Given the description of an element on the screen output the (x, y) to click on. 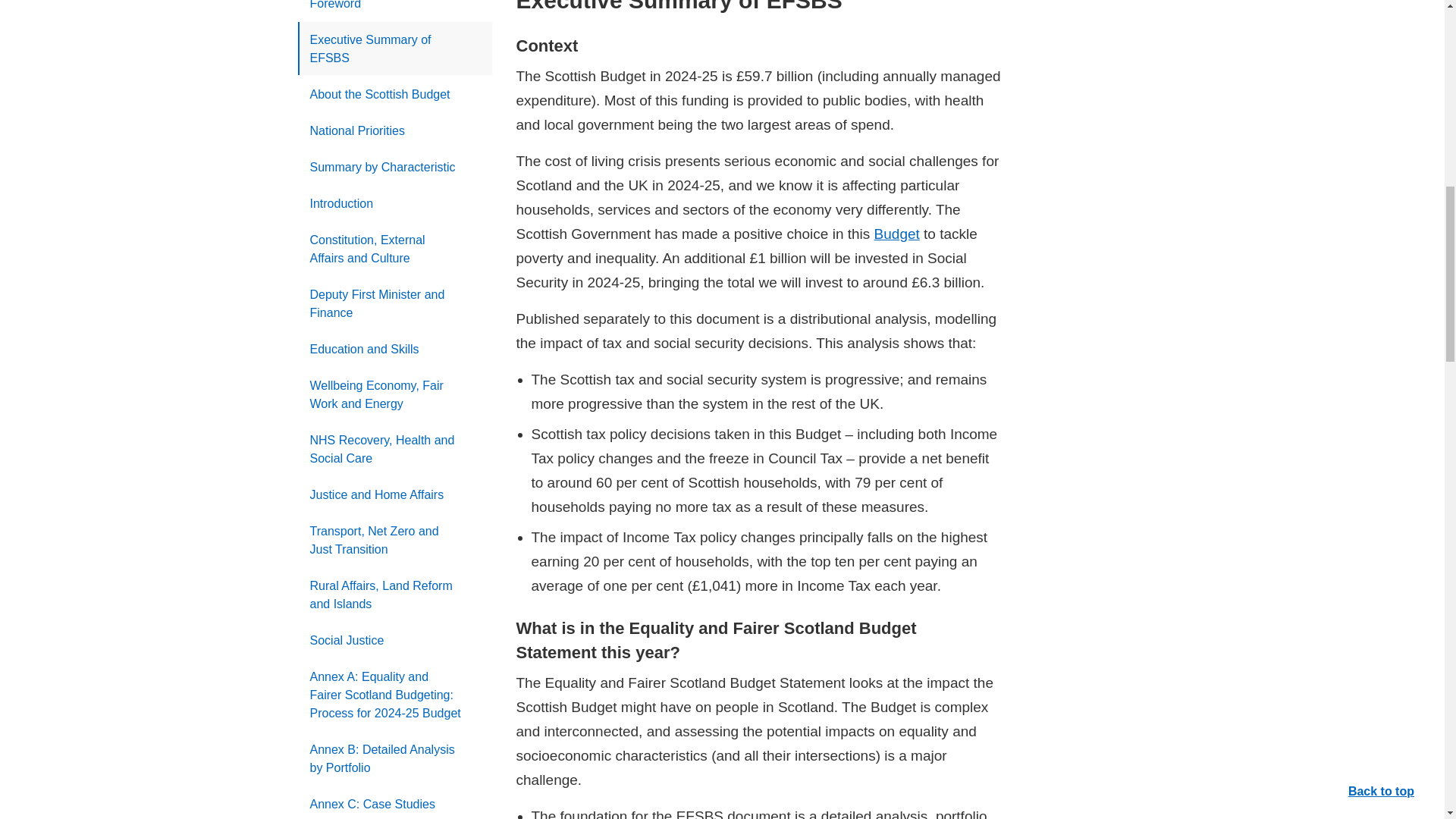
Foreword (394, 10)
